Given the description of an element on the screen output the (x, y) to click on. 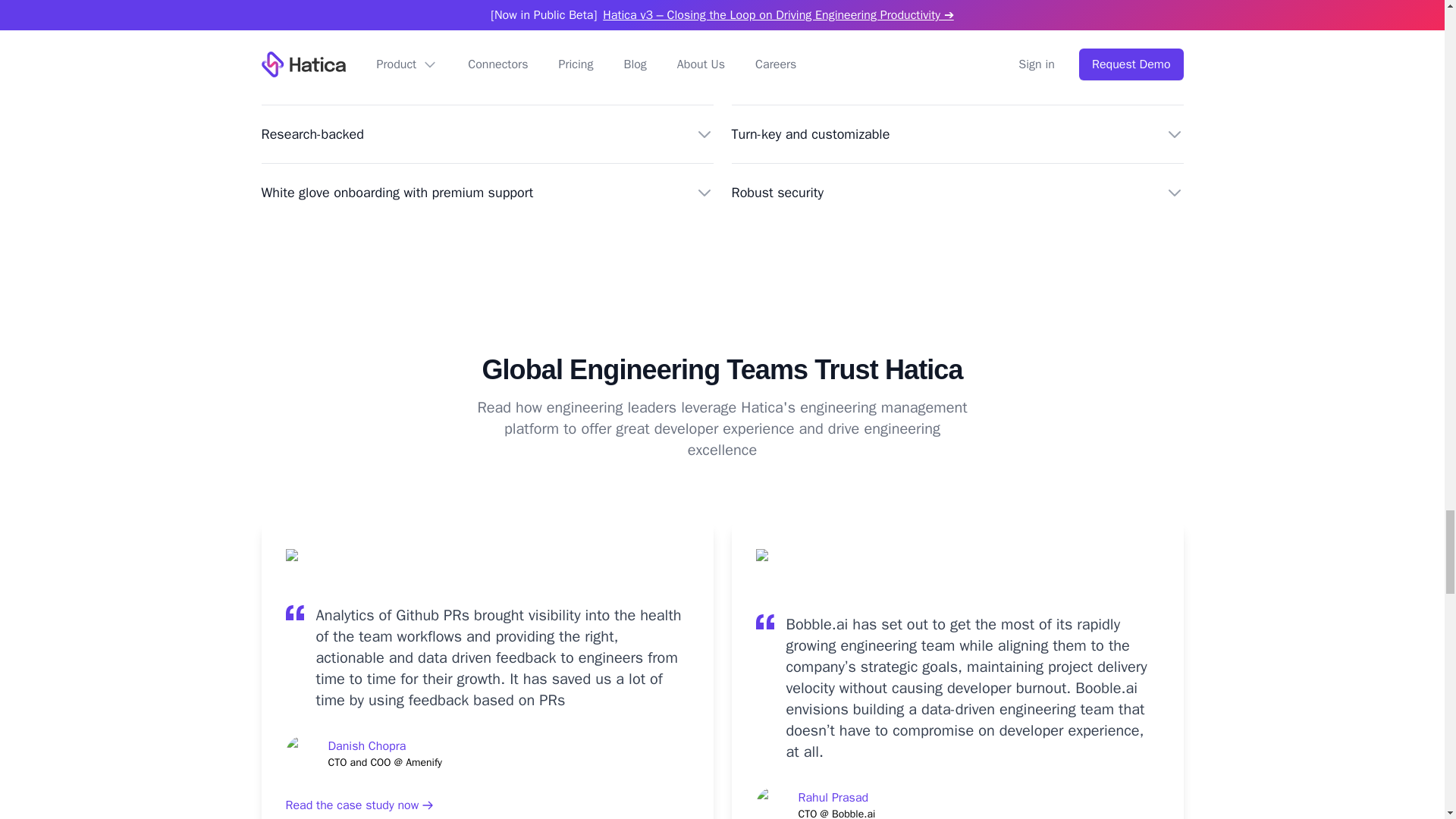
Turn-key and customizable (956, 133)
Effortless setup - ready in minutes (486, 16)
Free forever plans (956, 75)
White glove onboarding with premium support (486, 192)
Privacy by design (486, 75)
Robust security (956, 192)
Low maintenance on-prem hosting available (956, 16)
Research-backed (486, 133)
